Given the description of an element on the screen output the (x, y) to click on. 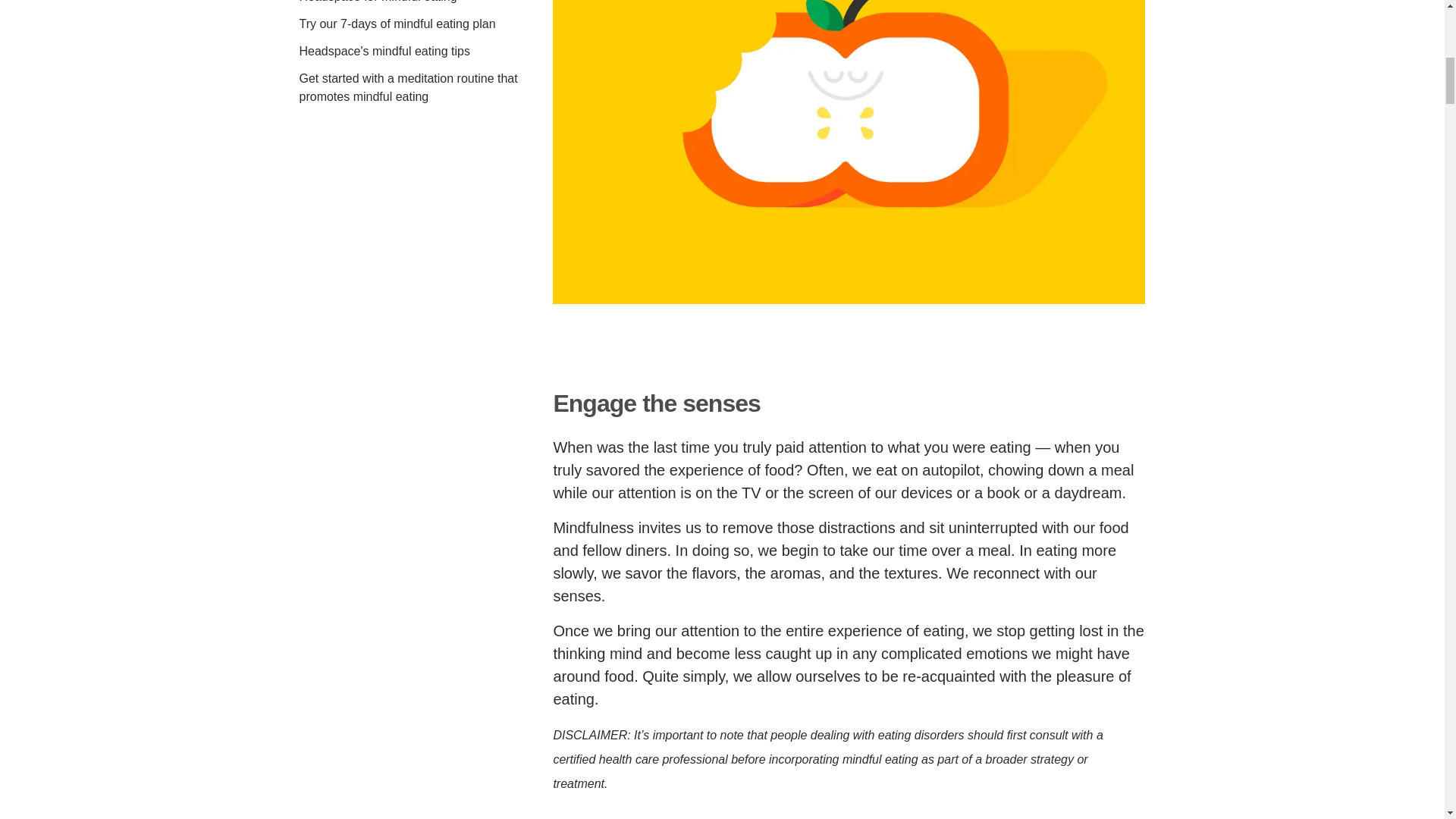
Headspace's mindful eating tips (383, 51)
Try our 7-days of mindful eating plan (396, 23)
Headspace for mindful eating (377, 1)
